Given the description of an element on the screen output the (x, y) to click on. 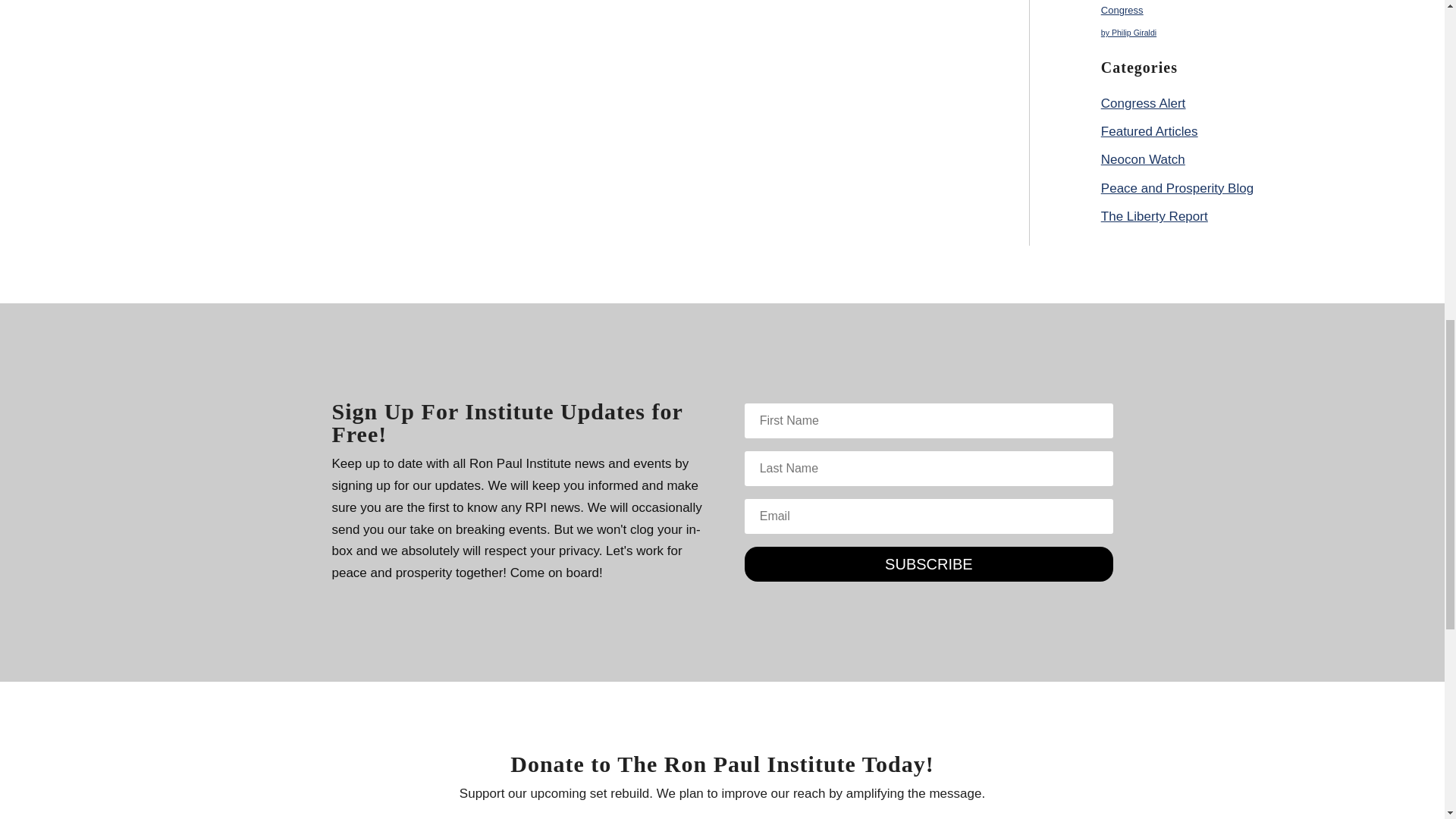
The Liberty Report (1154, 216)
Featured Articles (1149, 131)
Neocon Watch (1142, 159)
SUBSCRIBE (928, 564)
Congress Alert (1143, 103)
Peace and Prosperity Blog (1176, 187)
War Criminal Benjamin Netanyahu Addresses the US Congress (1216, 7)
